Given the description of an element on the screen output the (x, y) to click on. 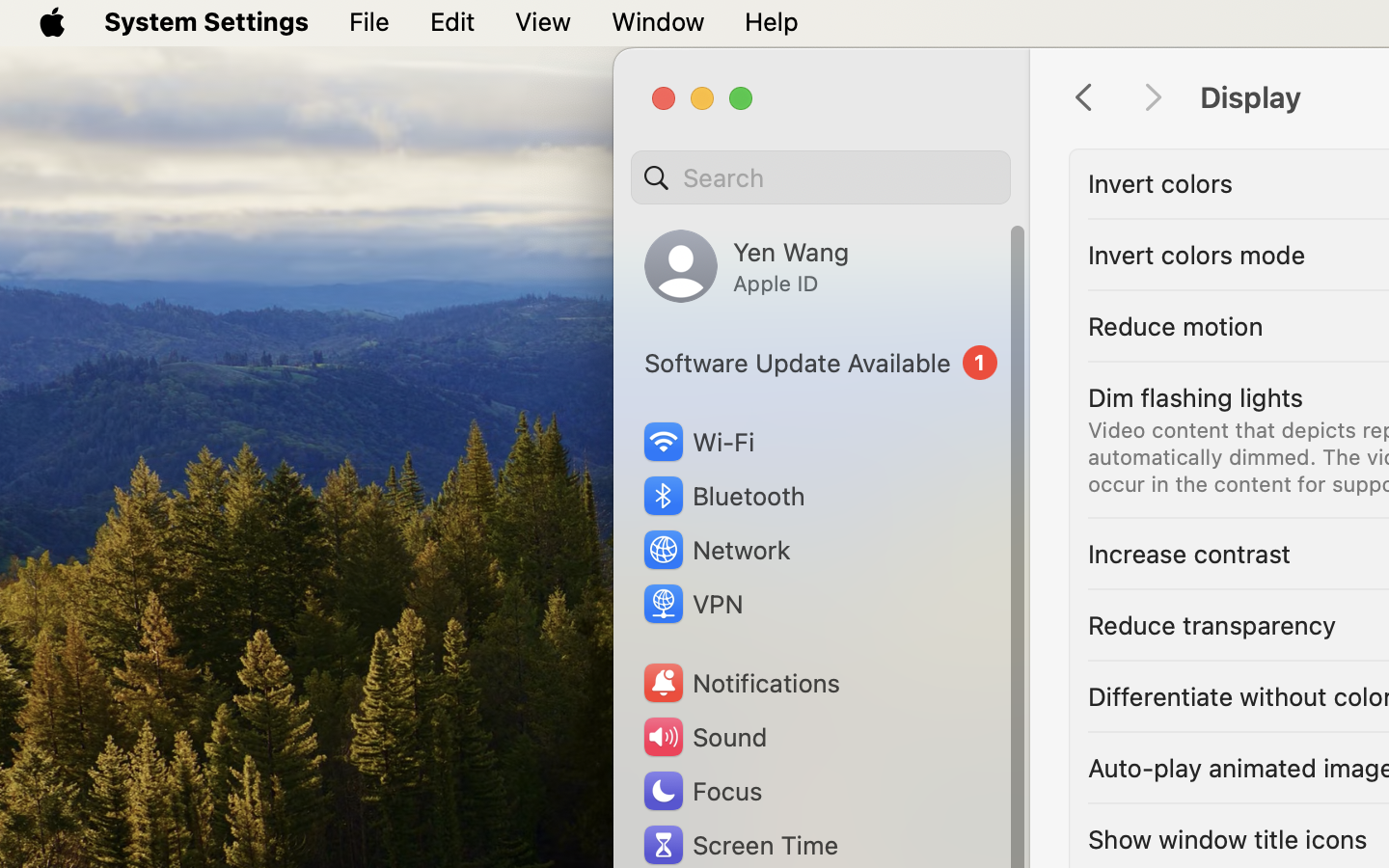
Sound Element type: AXStaticText (703, 736)
VPN Element type: AXStaticText (691, 603)
Network Element type: AXStaticText (715, 549)
Increase contrast Element type: AXStaticText (1189, 553)
1 Element type: AXStaticText (820, 362)
